Given the description of an element on the screen output the (x, y) to click on. 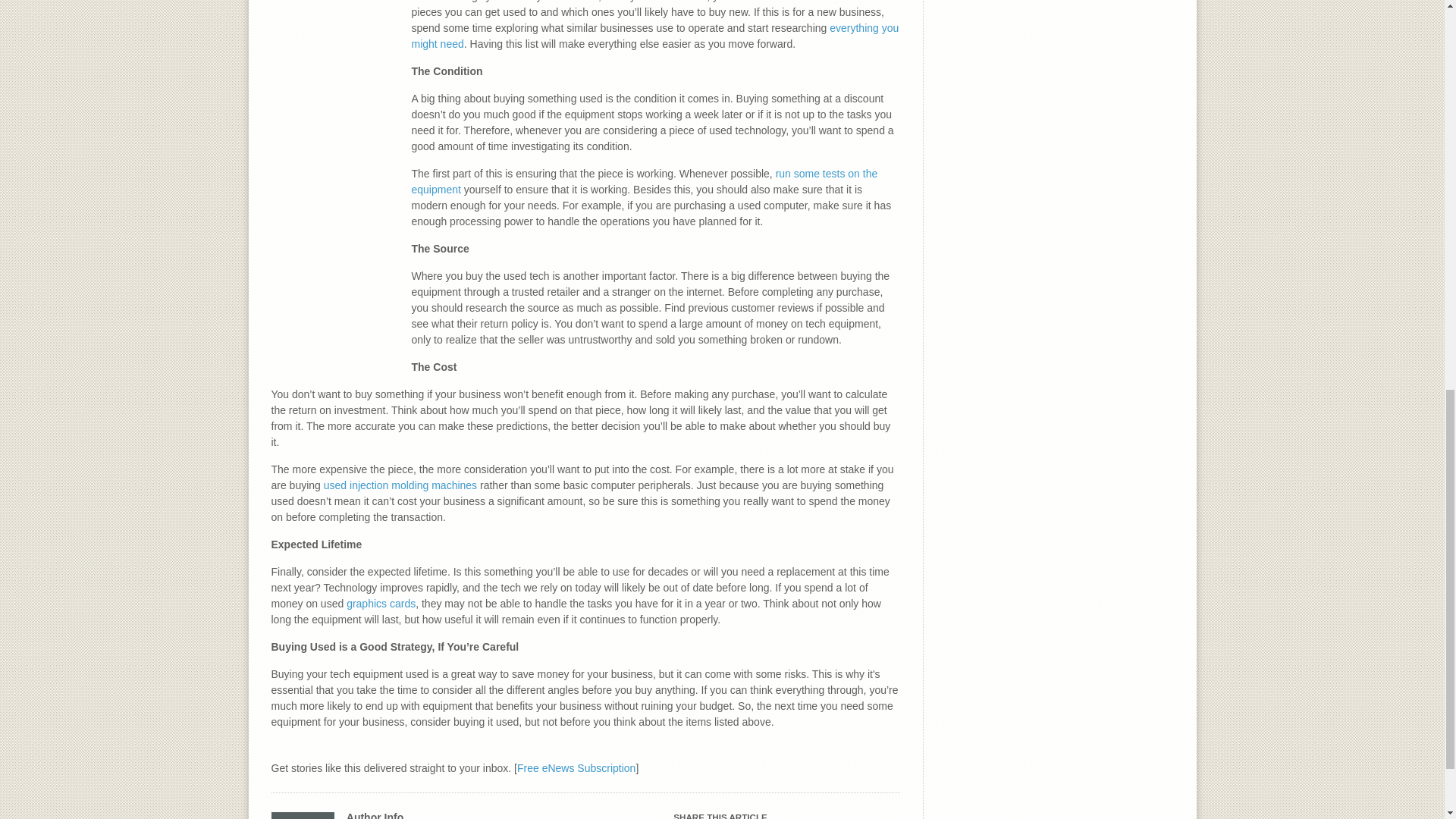
everything you might need (654, 35)
used injection molding machines (400, 485)
run some tests on the equipment (643, 181)
Free eNews Subscription (575, 767)
graphics cards (380, 603)
